Given the description of an element on the screen output the (x, y) to click on. 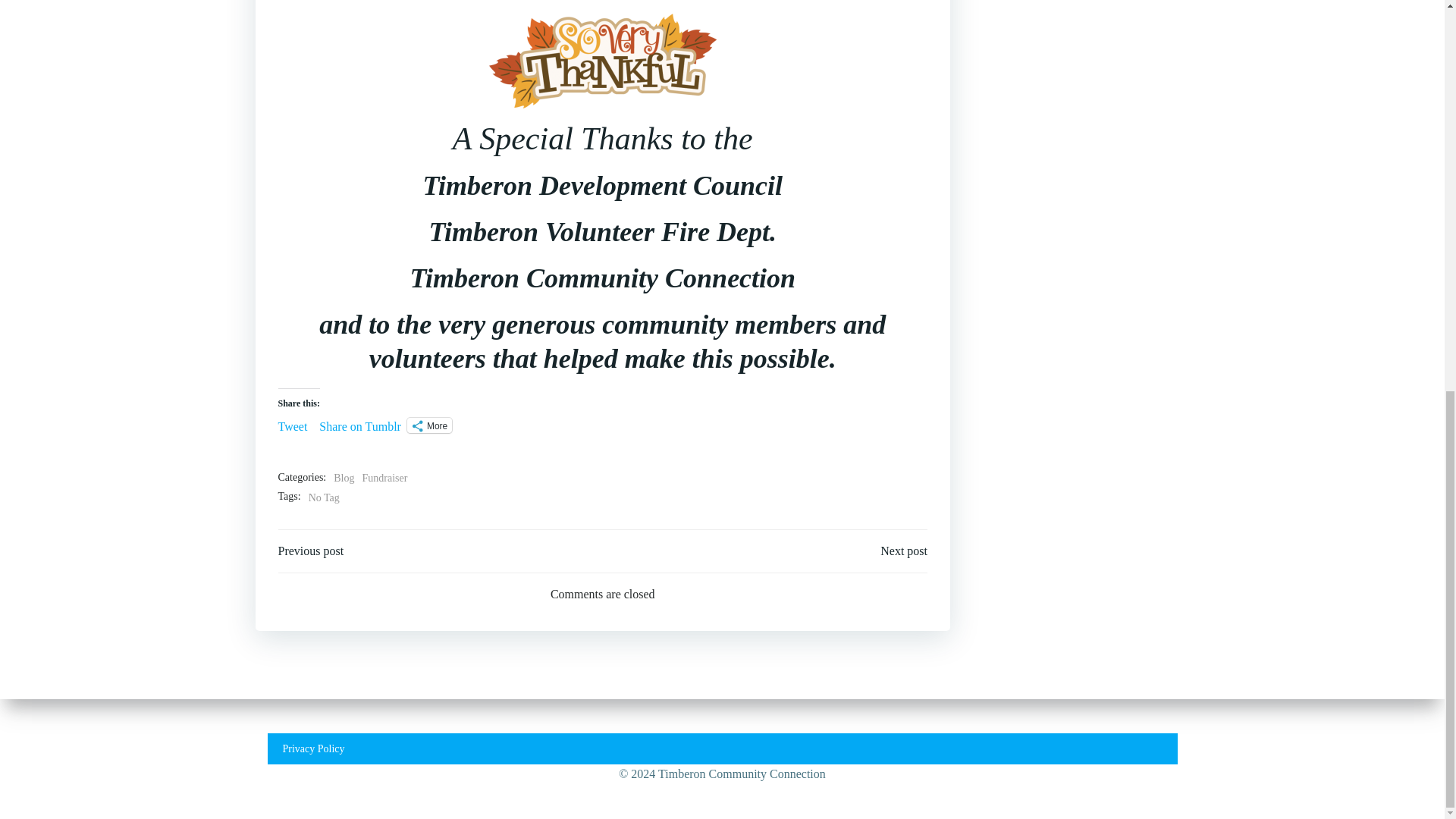
Share on Tumblr (359, 424)
Share on Tumblr (359, 424)
Privacy Policy (721, 5)
Previous post (310, 551)
Next post (903, 551)
Blog (343, 478)
More (429, 425)
Tweet (292, 424)
Fundraiser (384, 478)
